Given the description of an element on the screen output the (x, y) to click on. 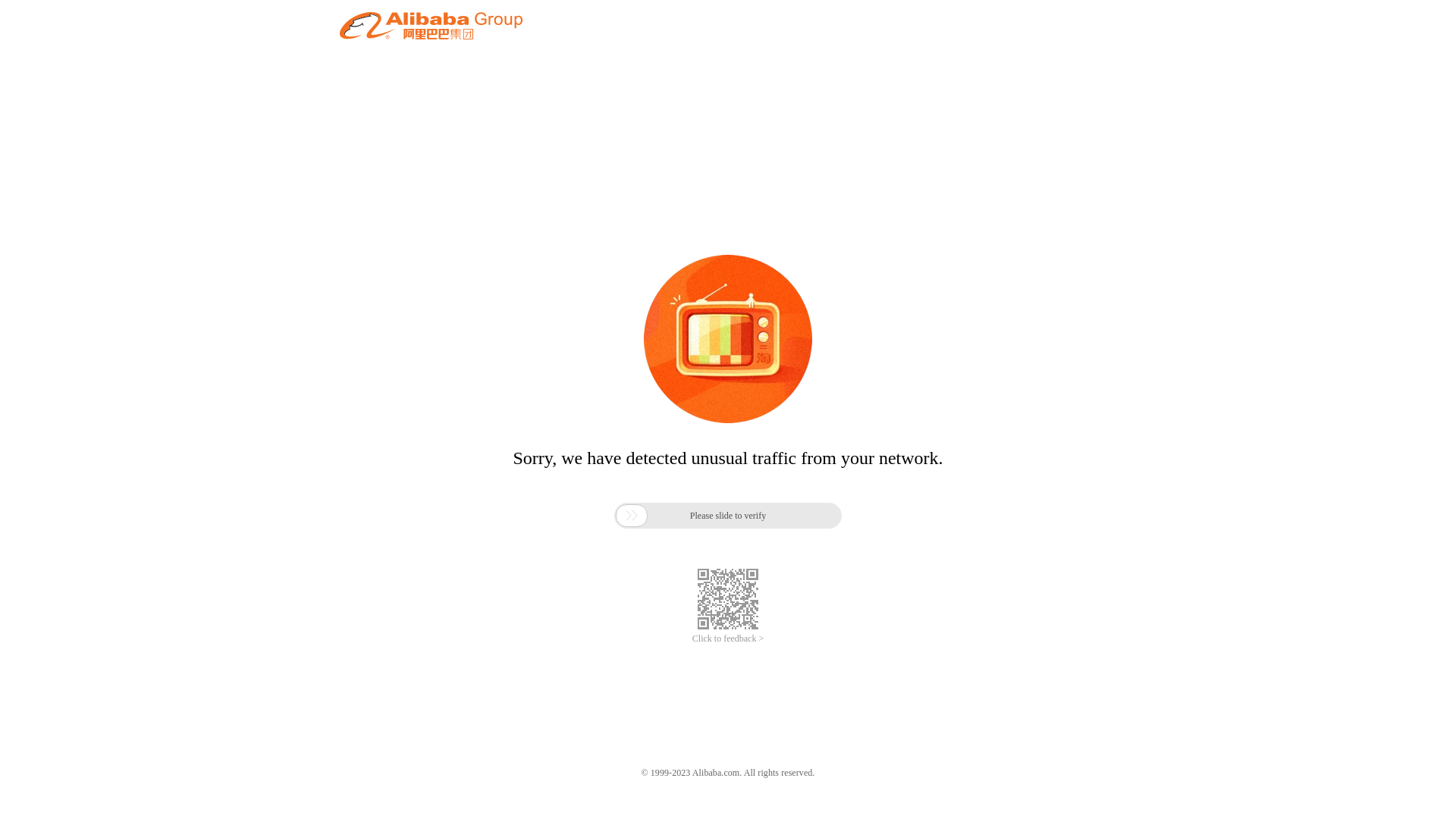
Click to feedback > Element type: text (727, 638)
